Given the description of an element on the screen output the (x, y) to click on. 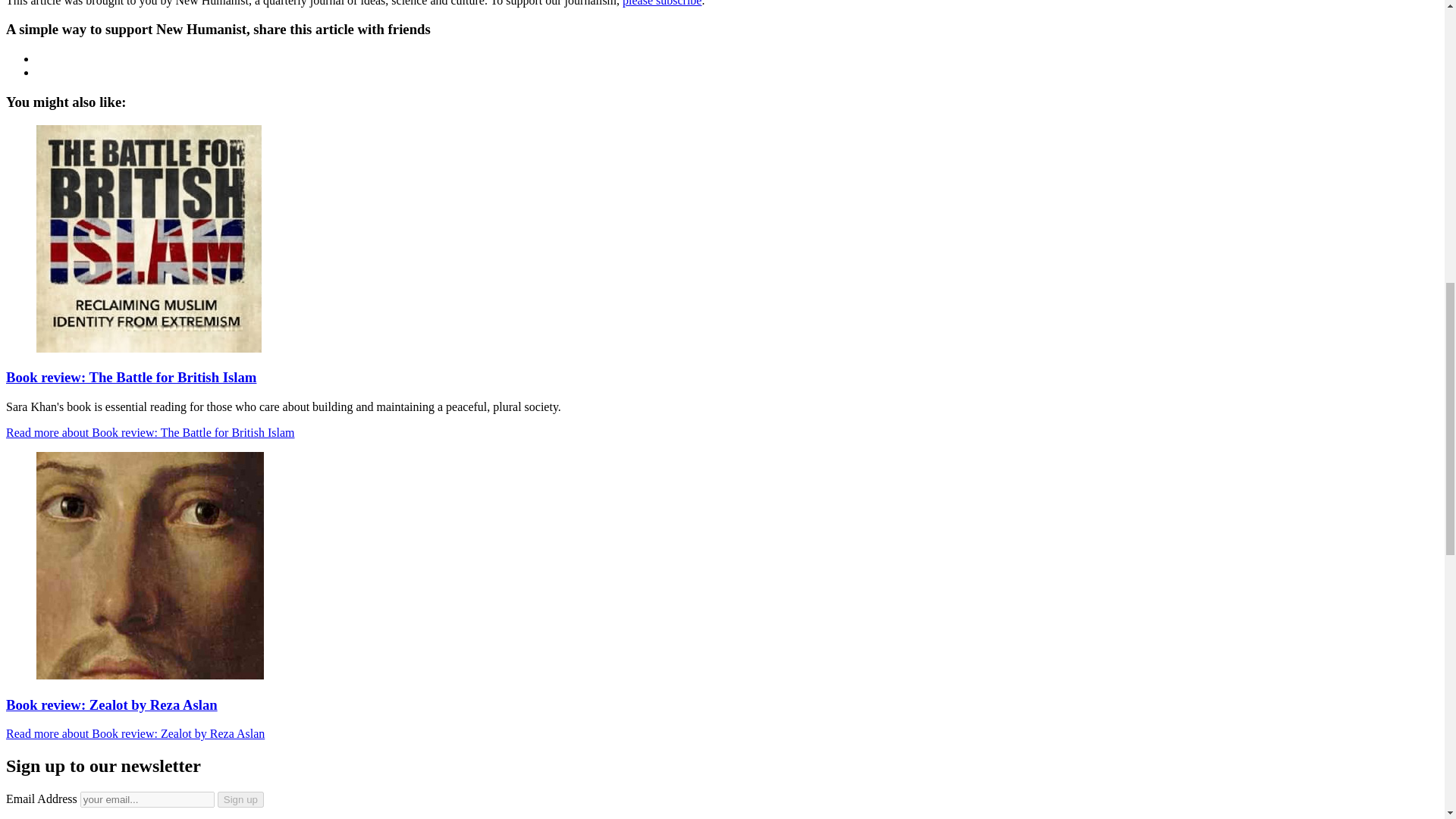
Read more about Book review: The Battle for British Islam (150, 431)
Sign up (239, 799)
Book review: Zealot by Reza Aslan (110, 704)
Read more about Book review: Zealot by Reza Aslan (134, 733)
Book review: The Battle for British Islam (130, 376)
Zealot by Reza Aslan (149, 565)
please subscribe (662, 3)
Cover (149, 238)
